Given the description of an element on the screen output the (x, y) to click on. 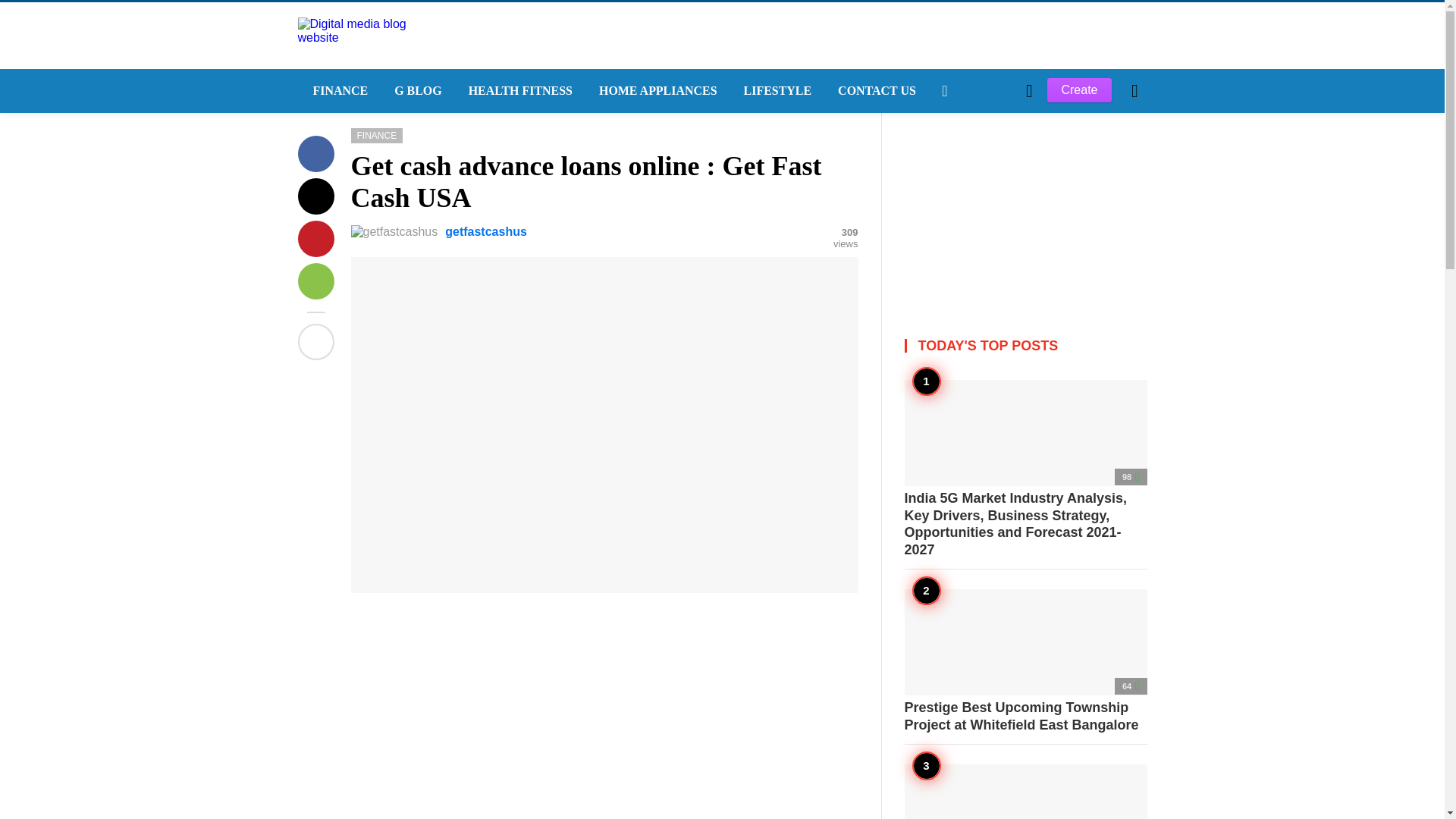
LIFESTYLE (776, 90)
Log in (962, 347)
Masonic Supplies (1025, 791)
G BLOG (415, 90)
HOME APPLIANCES (656, 90)
FINANCE (337, 90)
sign up (964, 347)
HEALTH FITNESS (517, 90)
